Given the description of an element on the screen output the (x, y) to click on. 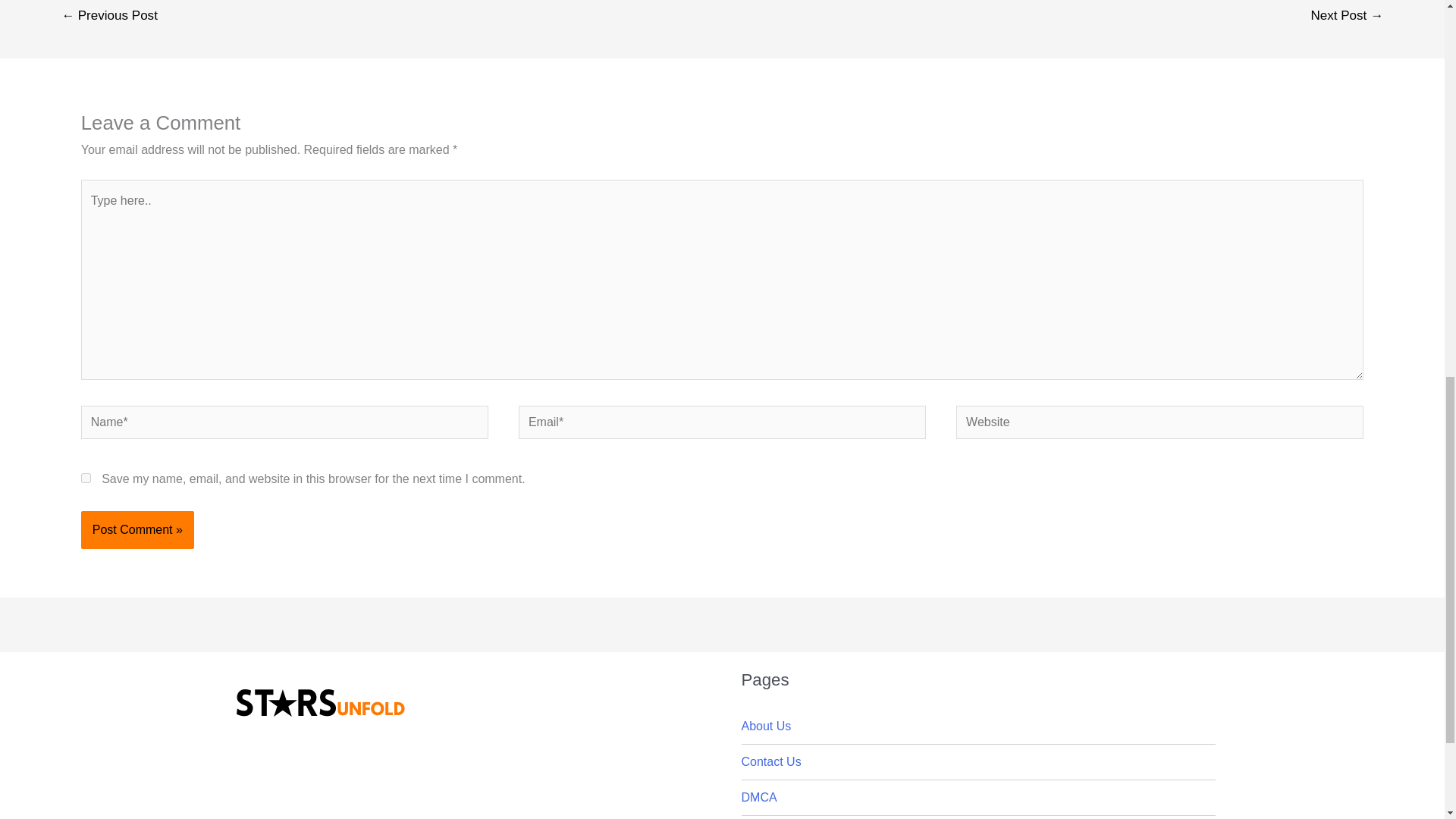
yes (85, 478)
DMCA (759, 797)
About Us (766, 725)
Contact Us (771, 761)
